Given the description of an element on the screen output the (x, y) to click on. 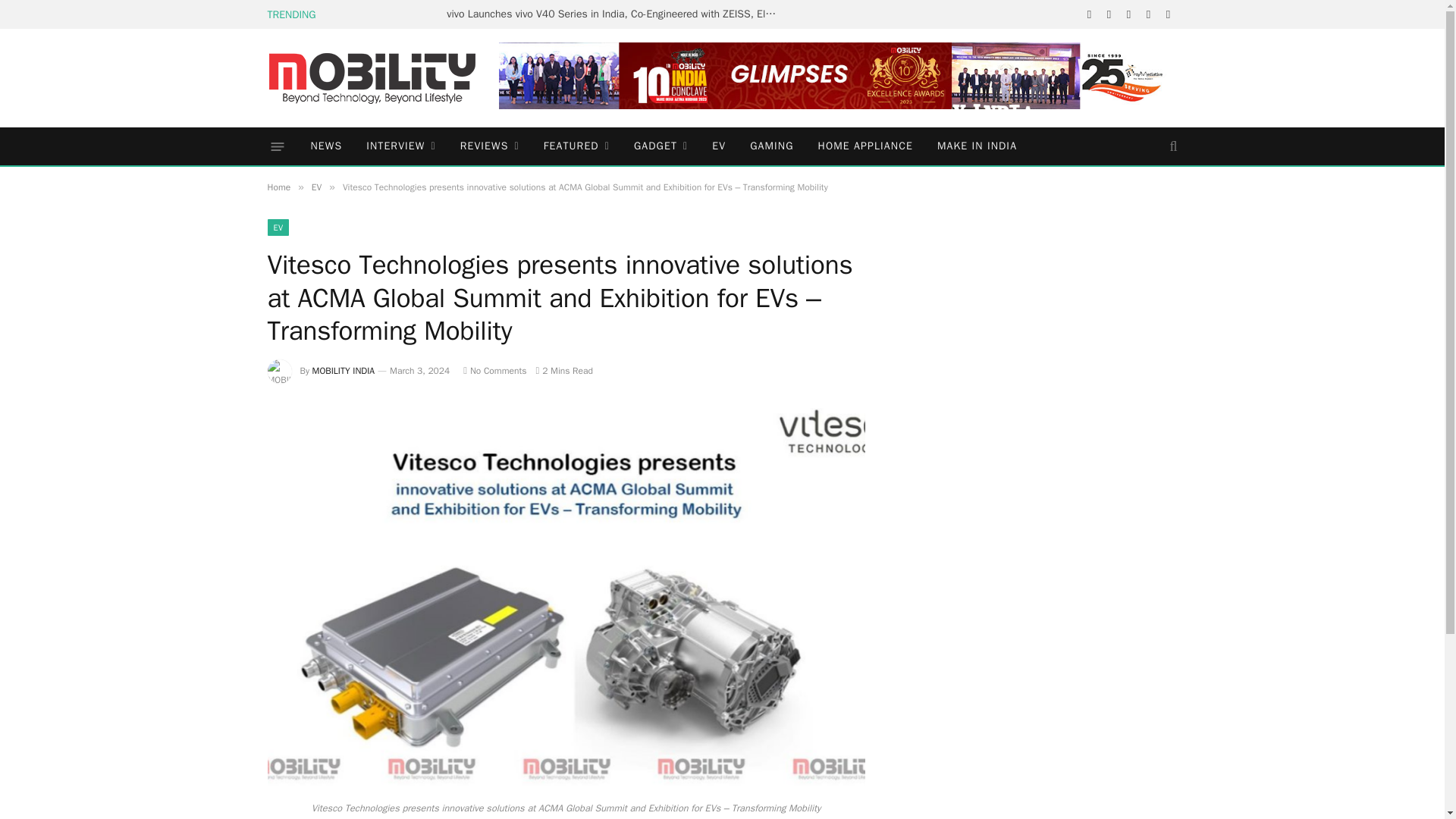
Mobility India (371, 77)
Posts by MOBILITY INDIA (344, 370)
